Given the description of an element on the screen output the (x, y) to click on. 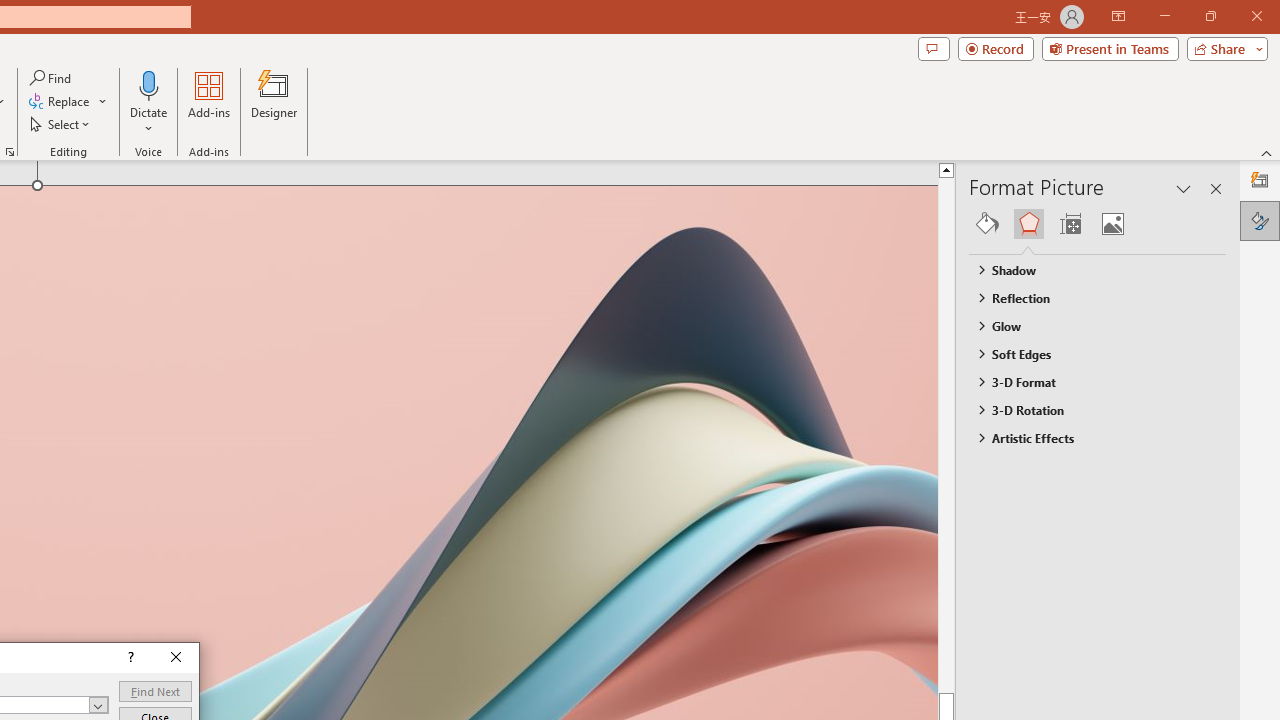
3-D Rotation (1088, 410)
3-D Format (1088, 381)
Size & Properties (1070, 223)
